Given the description of an element on the screen output the (x, y) to click on. 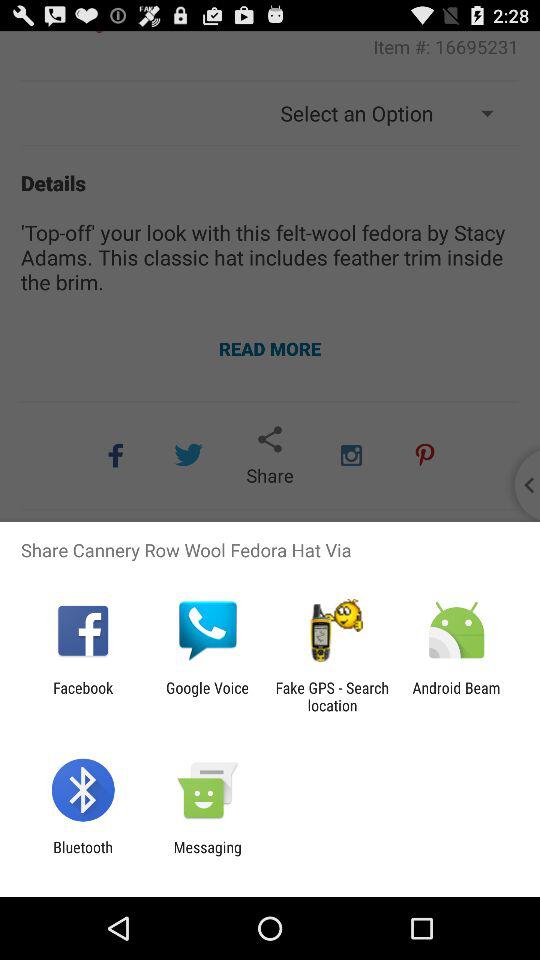
open the facebook item (83, 696)
